Given the description of an element on the screen output the (x, y) to click on. 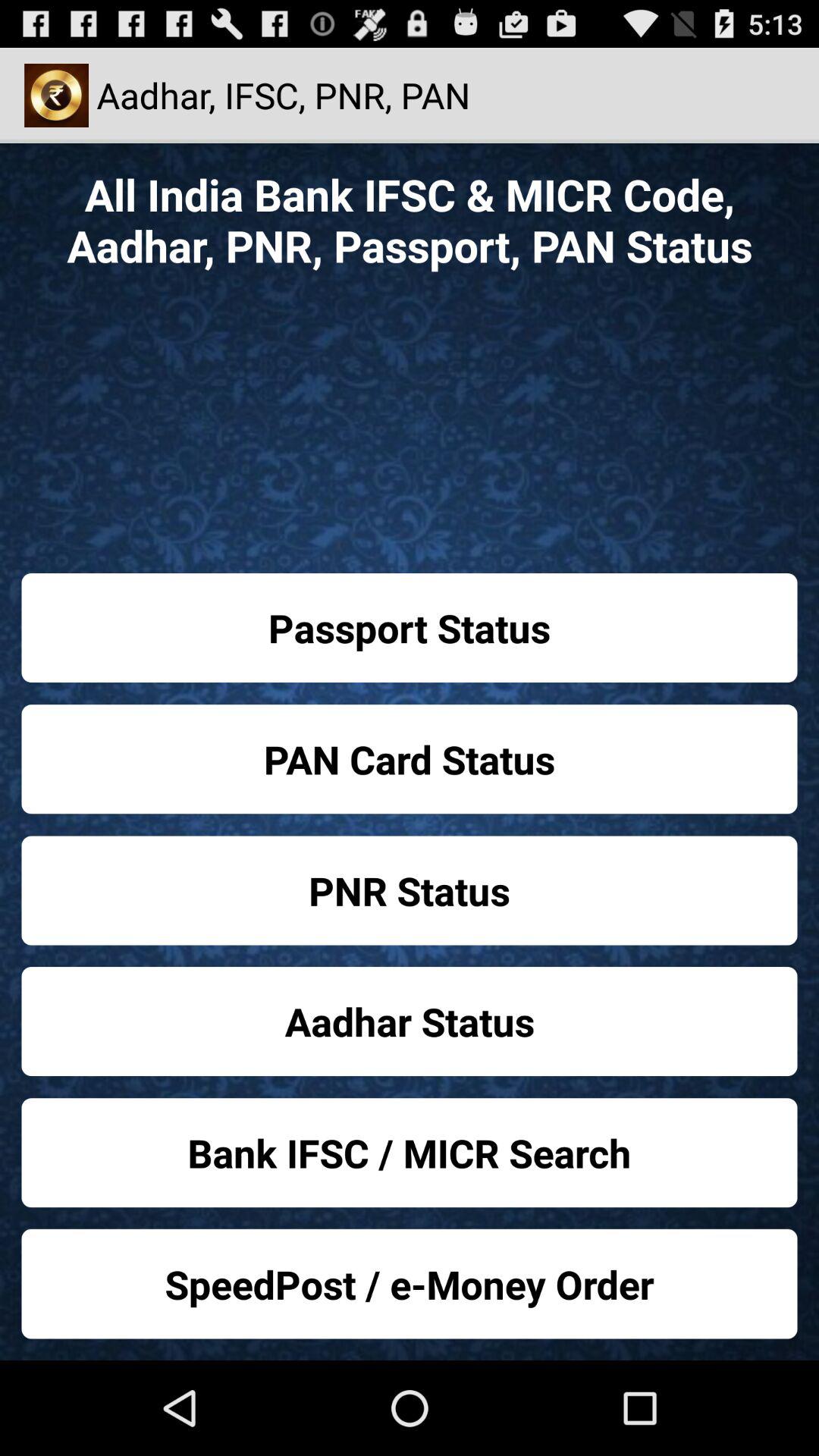
turn on button below bank ifsc micr button (409, 1283)
